Given the description of an element on the screen output the (x, y) to click on. 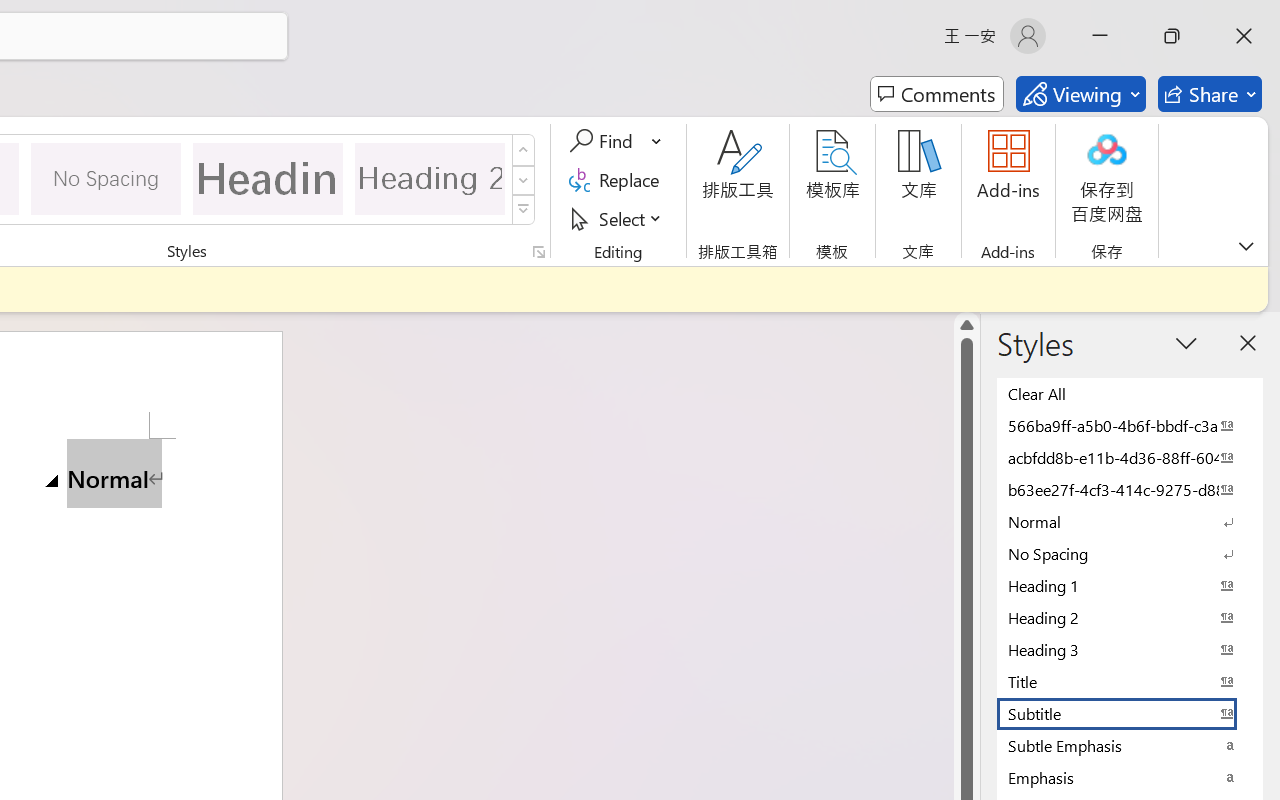
Heading 2 (429, 178)
b63ee27f-4cf3-414c-9275-d88e3f90795e (1130, 489)
Emphasis (1130, 777)
Normal (1130, 521)
Select (618, 218)
Heading 1 (267, 178)
No Spacing (1130, 553)
Row up (523, 150)
Styles (523, 209)
